Given the description of an element on the screen output the (x, y) to click on. 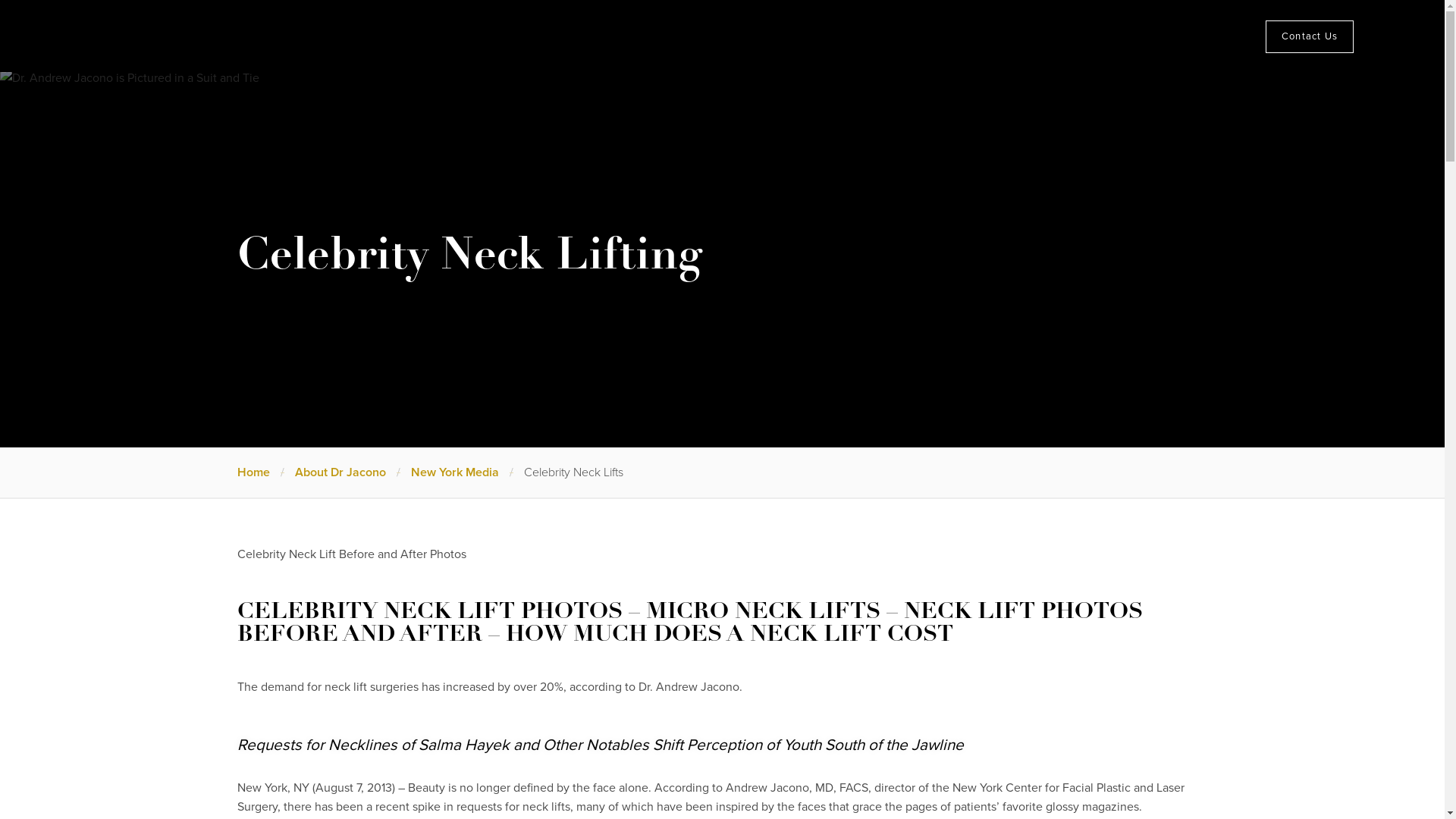
Contact Us (1309, 36)
